Given the description of an element on the screen output the (x, y) to click on. 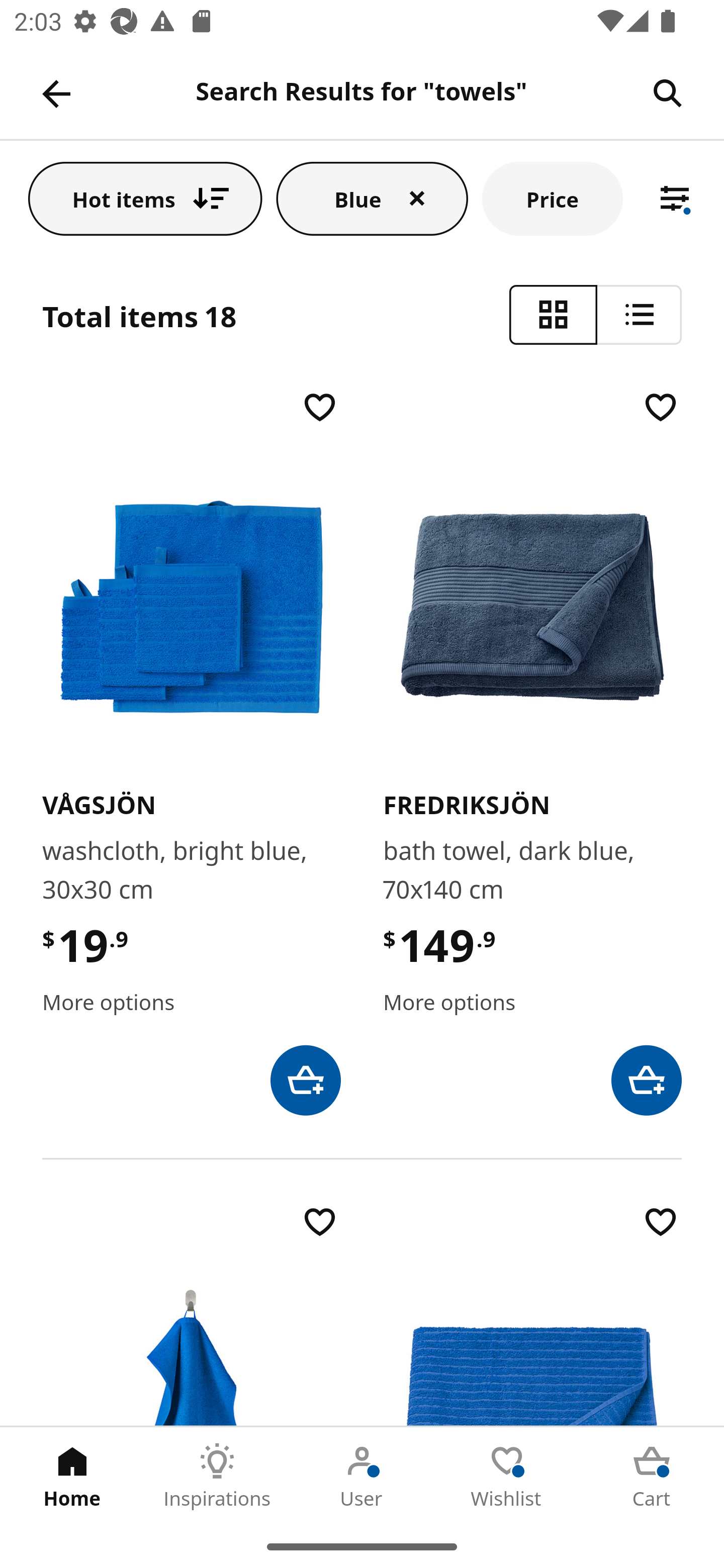
Hot items (145, 198)
Blue (372, 198)
Price (552, 198)
Home
Tab 1 of 5 (72, 1476)
Inspirations
Tab 2 of 5 (216, 1476)
User
Tab 3 of 5 (361, 1476)
Wishlist
Tab 4 of 5 (506, 1476)
Cart
Tab 5 of 5 (651, 1476)
